Given the description of an element on the screen output the (x, y) to click on. 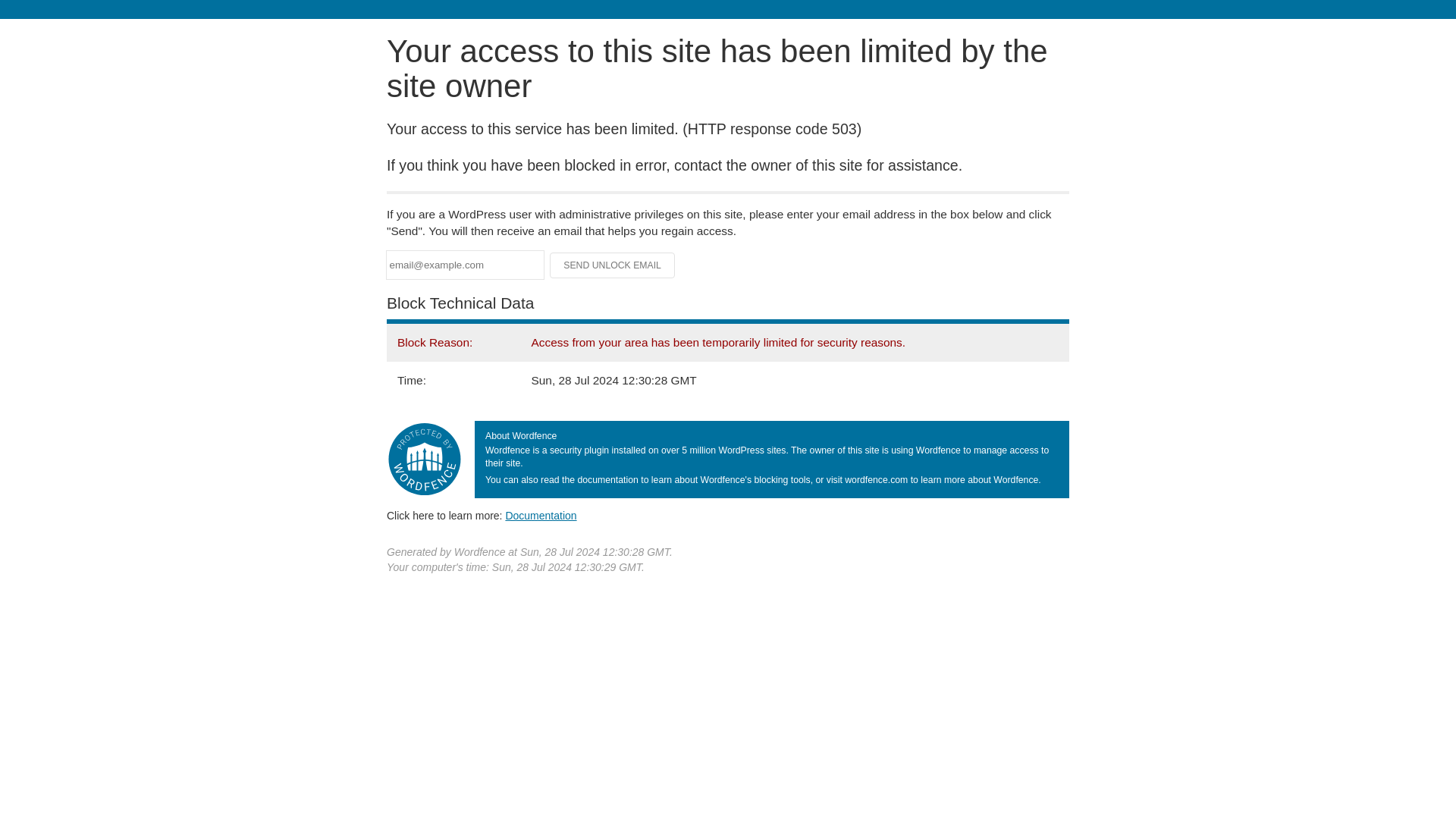
Send Unlock Email (612, 265)
Documentation (540, 515)
Send Unlock Email (612, 265)
